Given the description of an element on the screen output the (x, y) to click on. 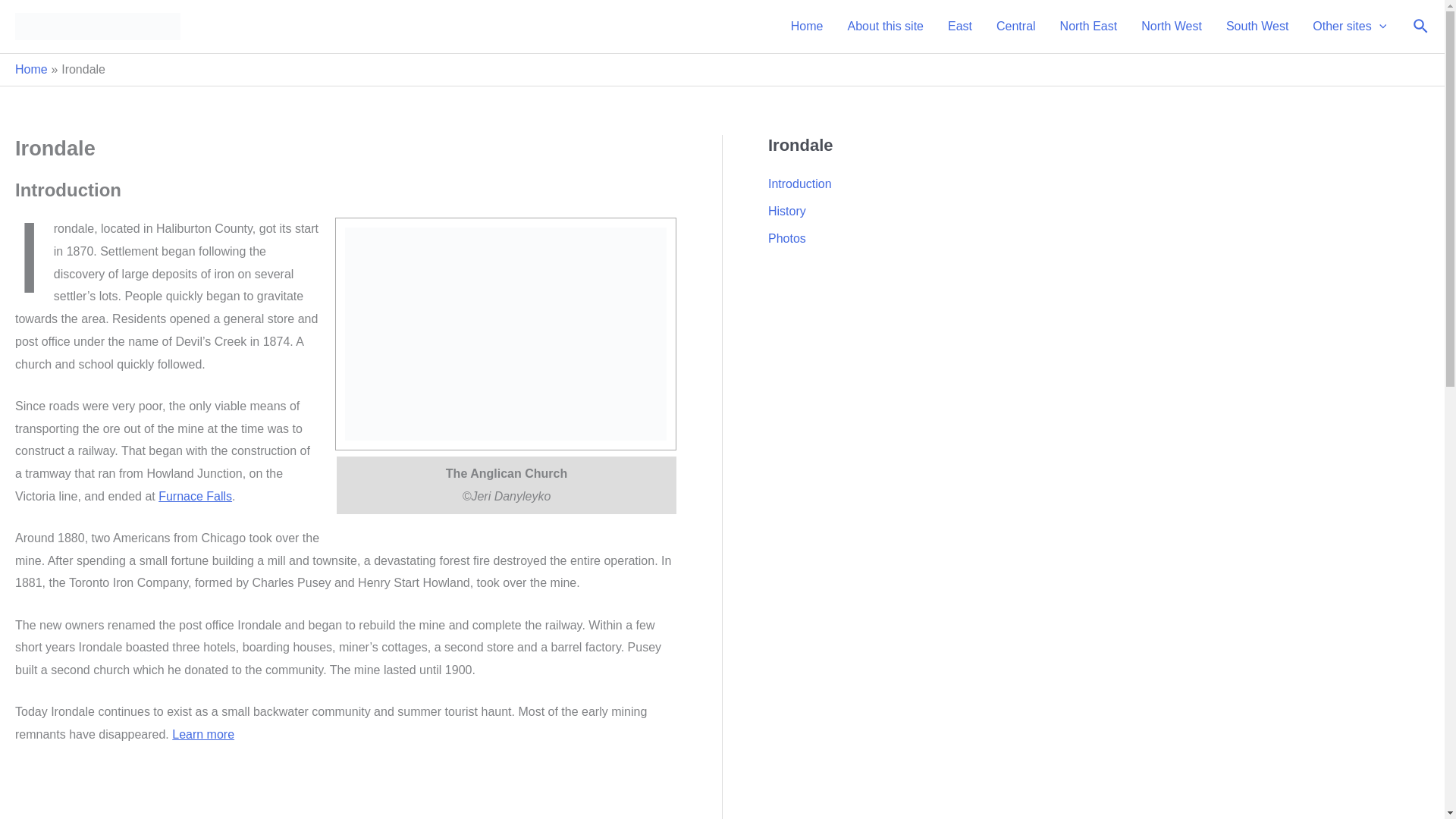
South West (1257, 26)
Other sites (1348, 26)
North West (1171, 26)
East (960, 26)
Home (31, 69)
Introduction (799, 183)
Photos (787, 237)
North East (1088, 26)
Furnace Falls (194, 495)
About this site (885, 26)
